Given the description of an element on the screen output the (x, y) to click on. 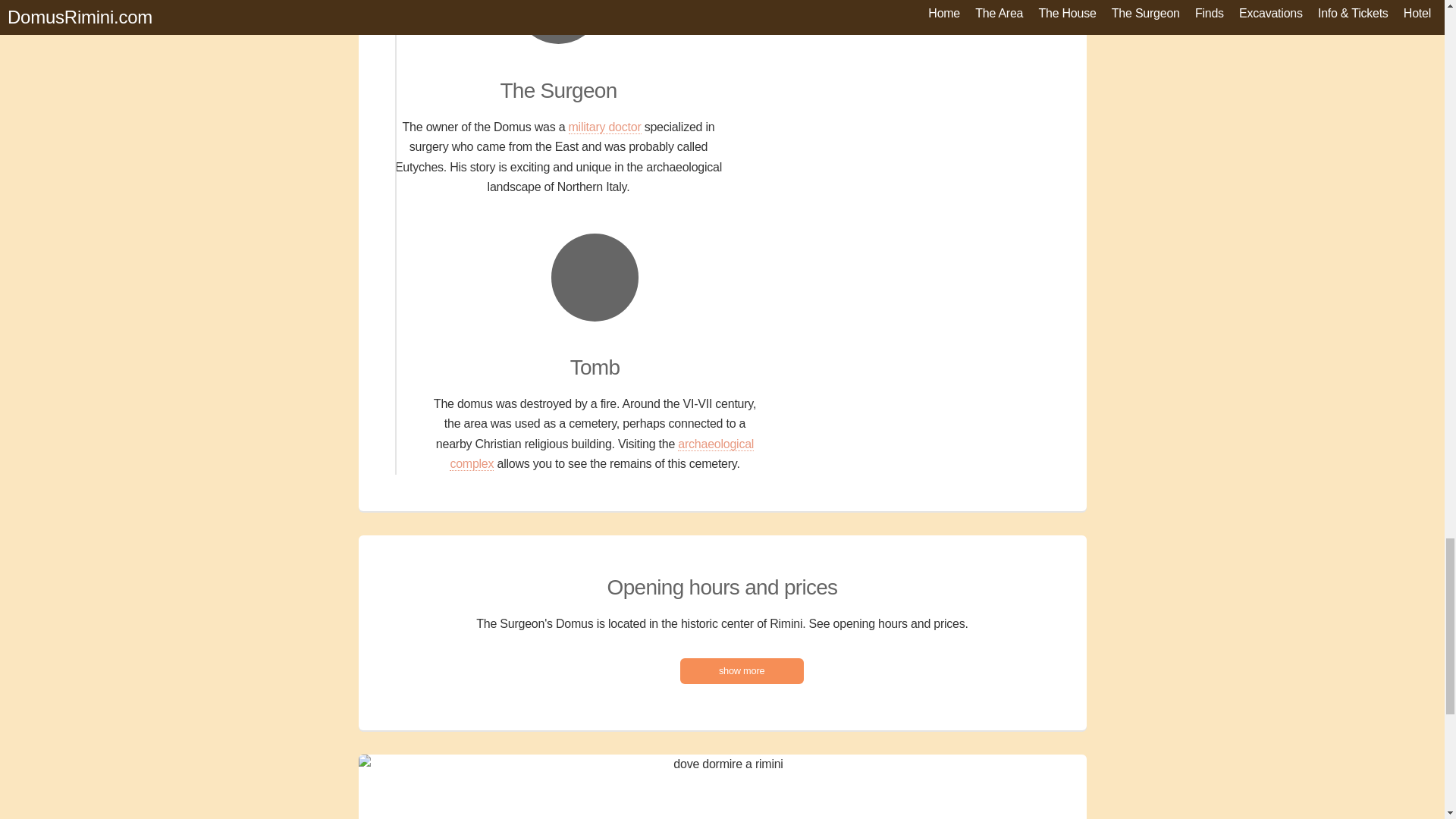
archaeological complex (601, 453)
military doctor (605, 127)
show more (741, 671)
